Given the description of an element on the screen output the (x, y) to click on. 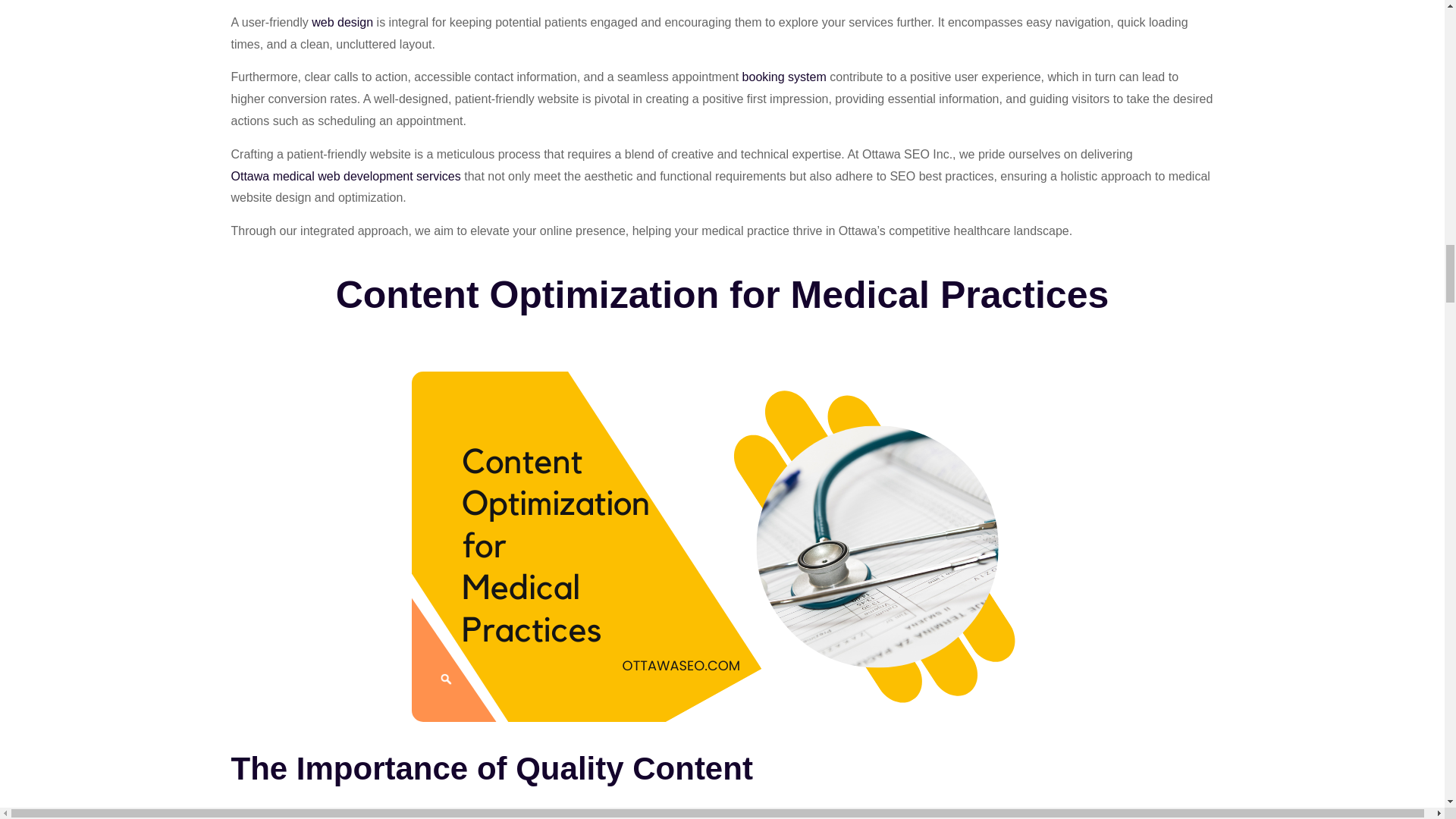
booking system (784, 77)
web design (341, 23)
Ottawa medical web development services (345, 176)
